Given the description of an element on the screen output the (x, y) to click on. 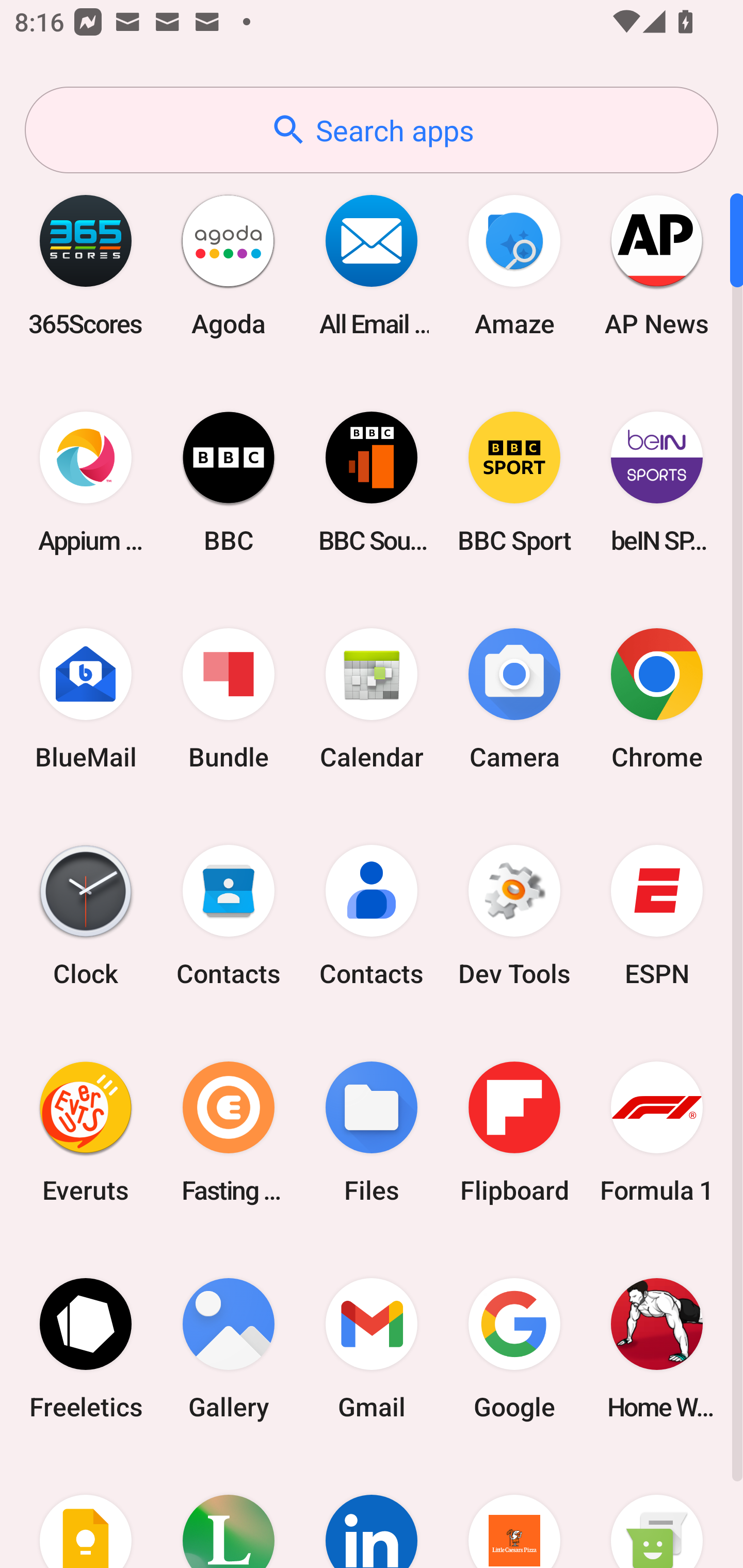
  Search apps (371, 130)
365Scores (85, 264)
Agoda (228, 264)
All Email Connect (371, 264)
Amaze (514, 264)
AP News (656, 264)
Appium Settings (85, 482)
BBC (228, 482)
BBC Sounds (371, 482)
BBC Sport (514, 482)
beIN SPORTS (656, 482)
BlueMail (85, 699)
Bundle (228, 699)
Calendar (371, 699)
Camera (514, 699)
Chrome (656, 699)
Clock (85, 915)
Contacts (228, 915)
Contacts (371, 915)
Dev Tools (514, 915)
ESPN (656, 915)
Everuts (85, 1131)
Fasting Coach (228, 1131)
Files (371, 1131)
Flipboard (514, 1131)
Formula 1 (656, 1131)
Freeletics (85, 1348)
Gallery (228, 1348)
Gmail (371, 1348)
Google (514, 1348)
Home Workout (656, 1348)
Keep Notes (85, 1512)
Lifesum (228, 1512)
LinkedIn (371, 1512)
Little Caesars Pizza (514, 1512)
Messaging (656, 1512)
